Given the description of an element on the screen output the (x, y) to click on. 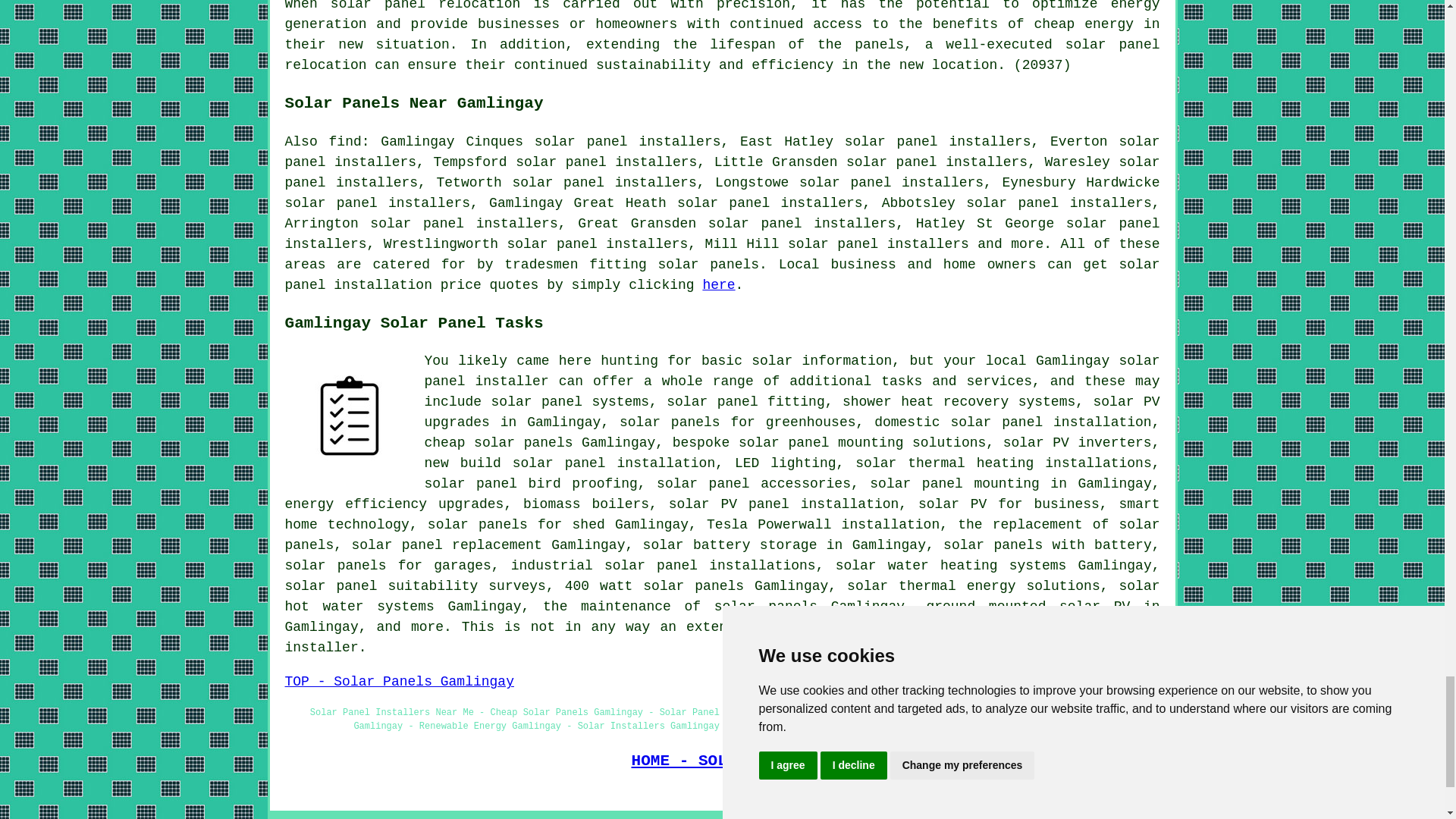
solar panel installation (1050, 421)
car keys (570, 401)
Gamlingay Solar Panel Tasks (349, 415)
